Given the description of an element on the screen output the (x, y) to click on. 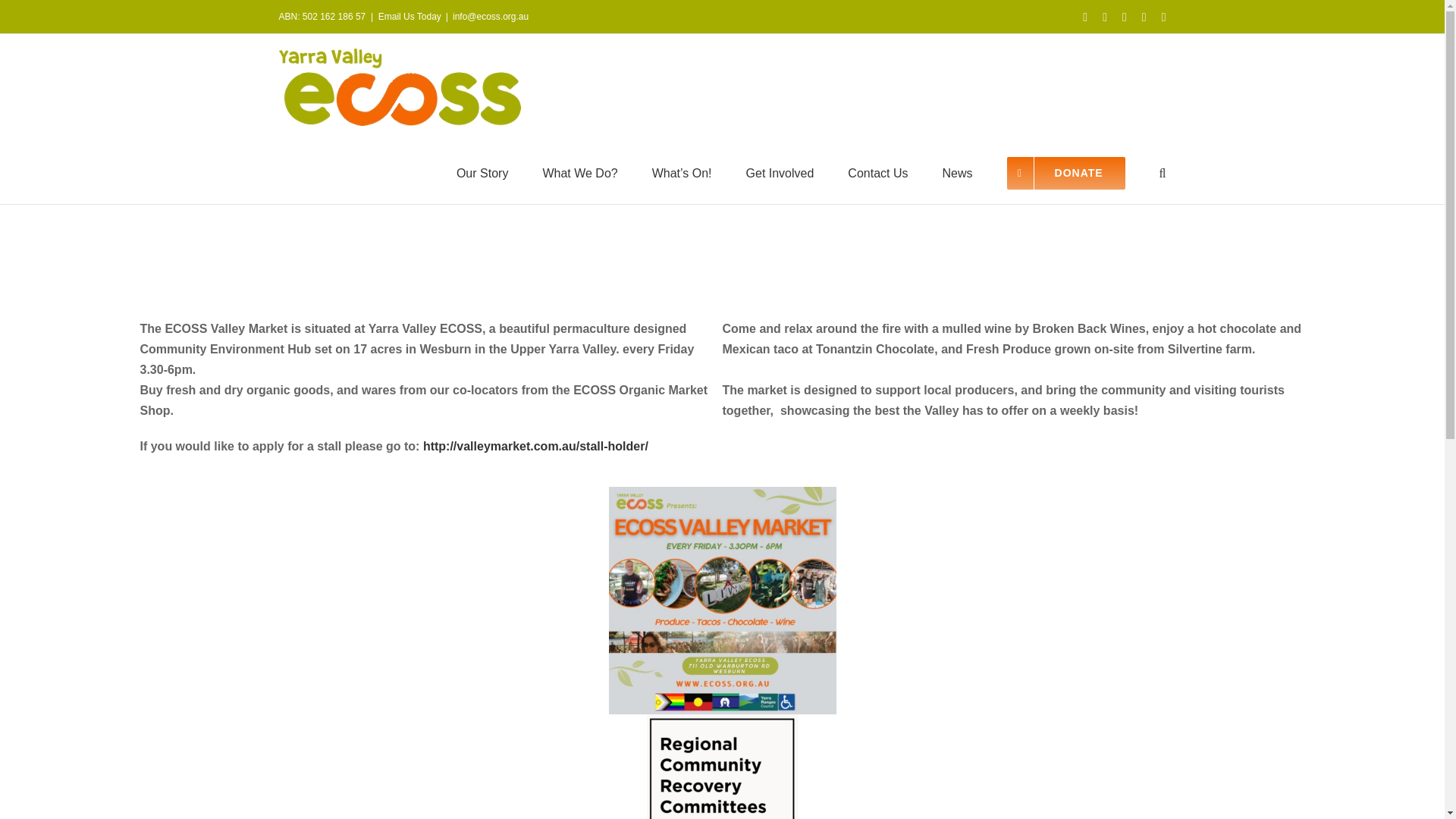
Get Involved (779, 171)
What We Do? (579, 171)
RCRC logo (721, 766)
ECOSS Valley Market Poster 2024 (721, 600)
